Given the description of an element on the screen output the (x, y) to click on. 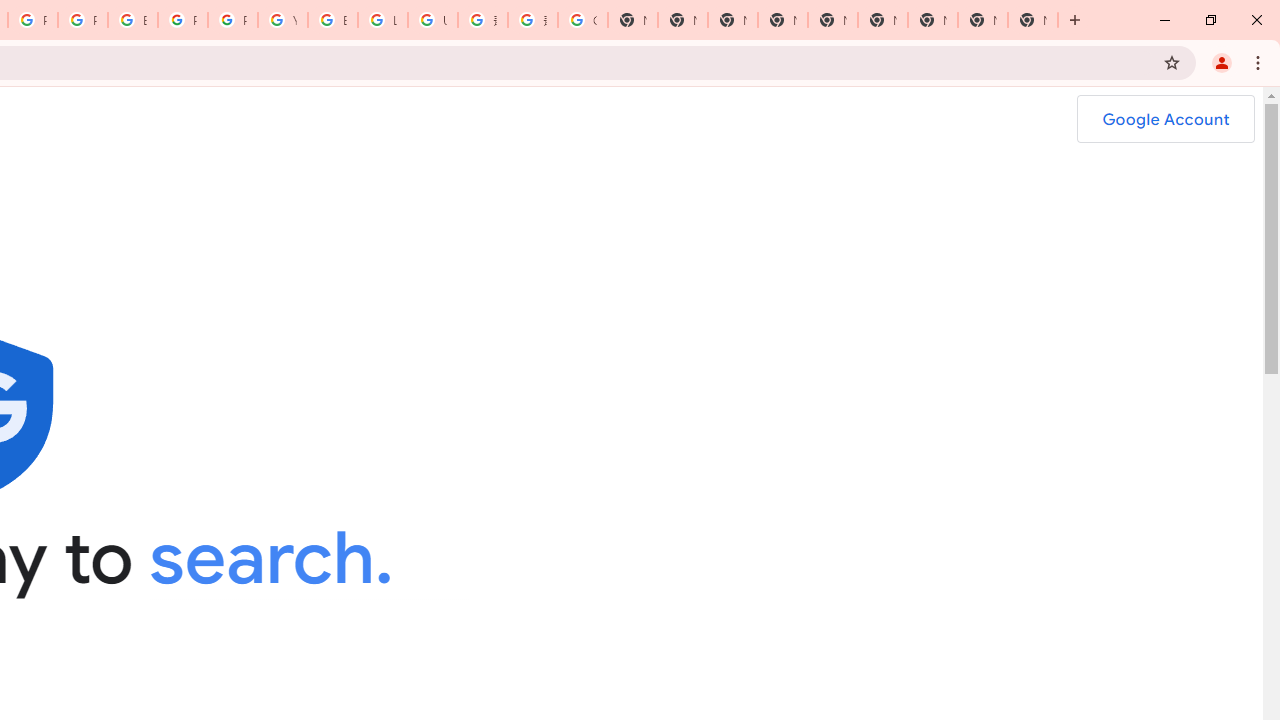
Google Account (1165, 119)
New Tab (1032, 20)
